Given the description of an element on the screen output the (x, y) to click on. 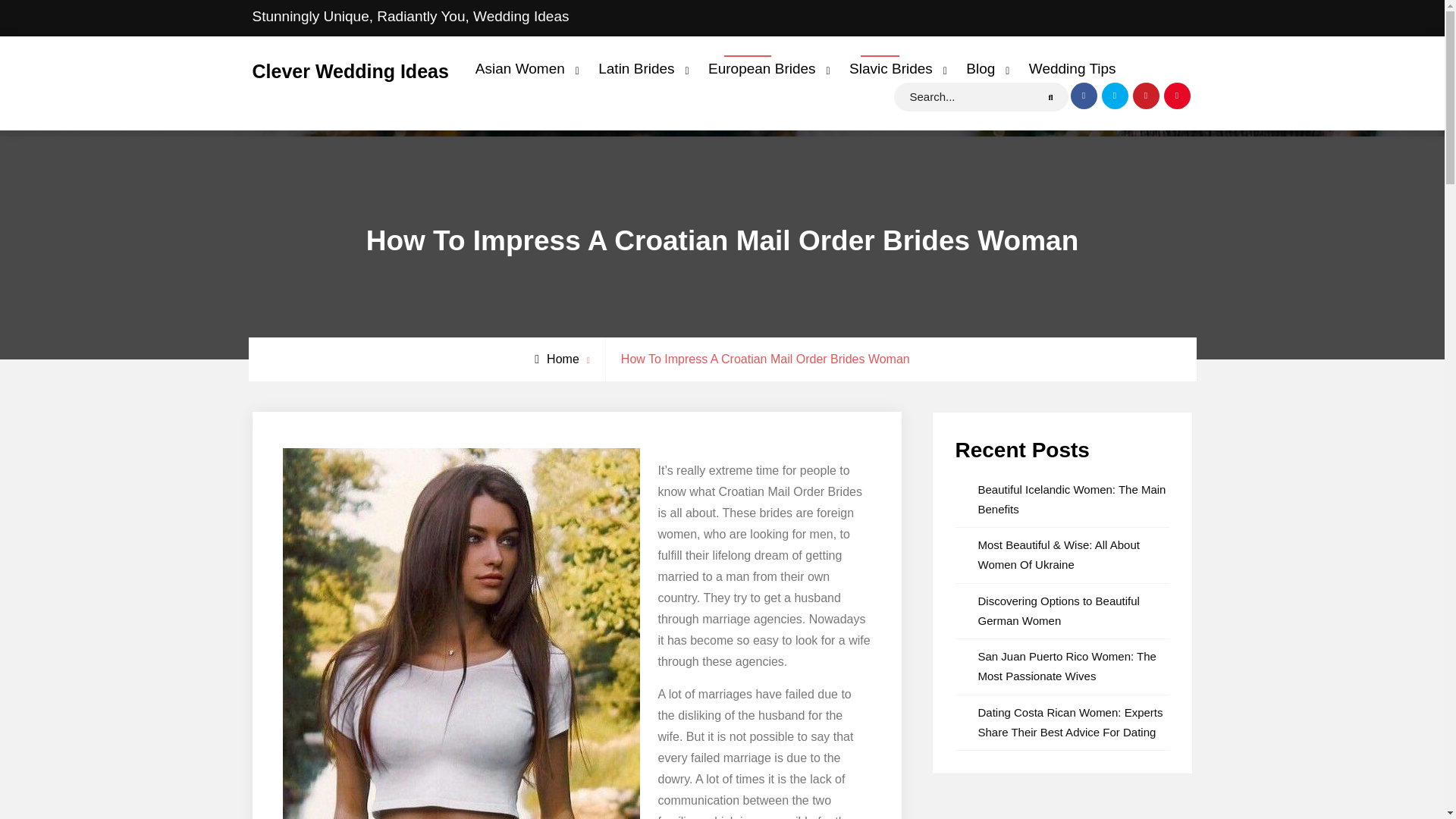
Latin Brides (639, 68)
Slavic Brides (895, 68)
Asian Women (523, 68)
European Brides (765, 68)
Clever Wedding Ideas (349, 70)
